Given the description of an element on the screen output the (x, y) to click on. 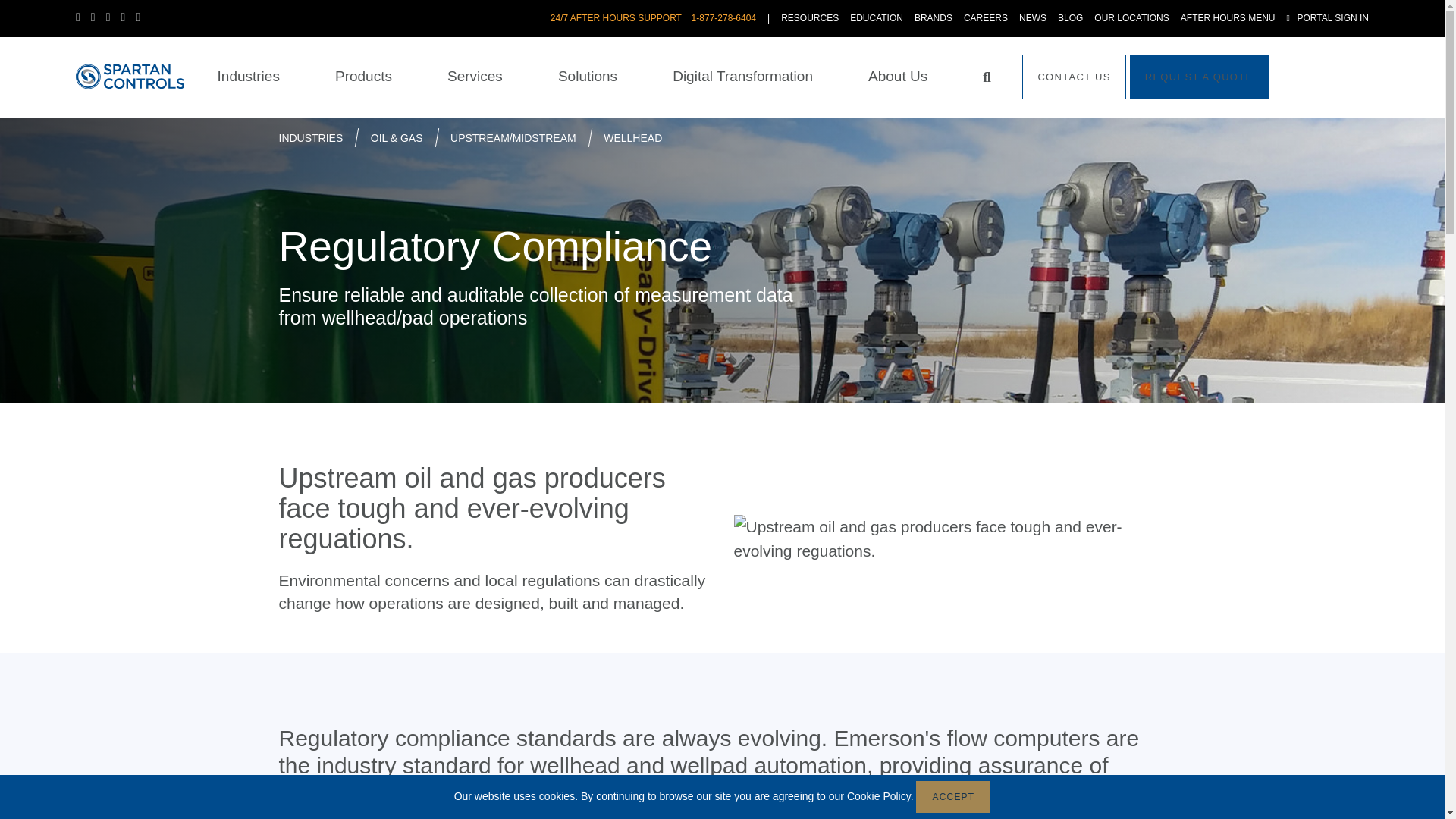
Careers (985, 18)
Facebook (82, 16)
Our Locations (1131, 18)
Instagram (143, 16)
CAREERS (985, 18)
Youtube (128, 16)
BLOG (1070, 18)
Products (362, 76)
NEWS (1032, 18)
News (1032, 18)
